Given the description of an element on the screen output the (x, y) to click on. 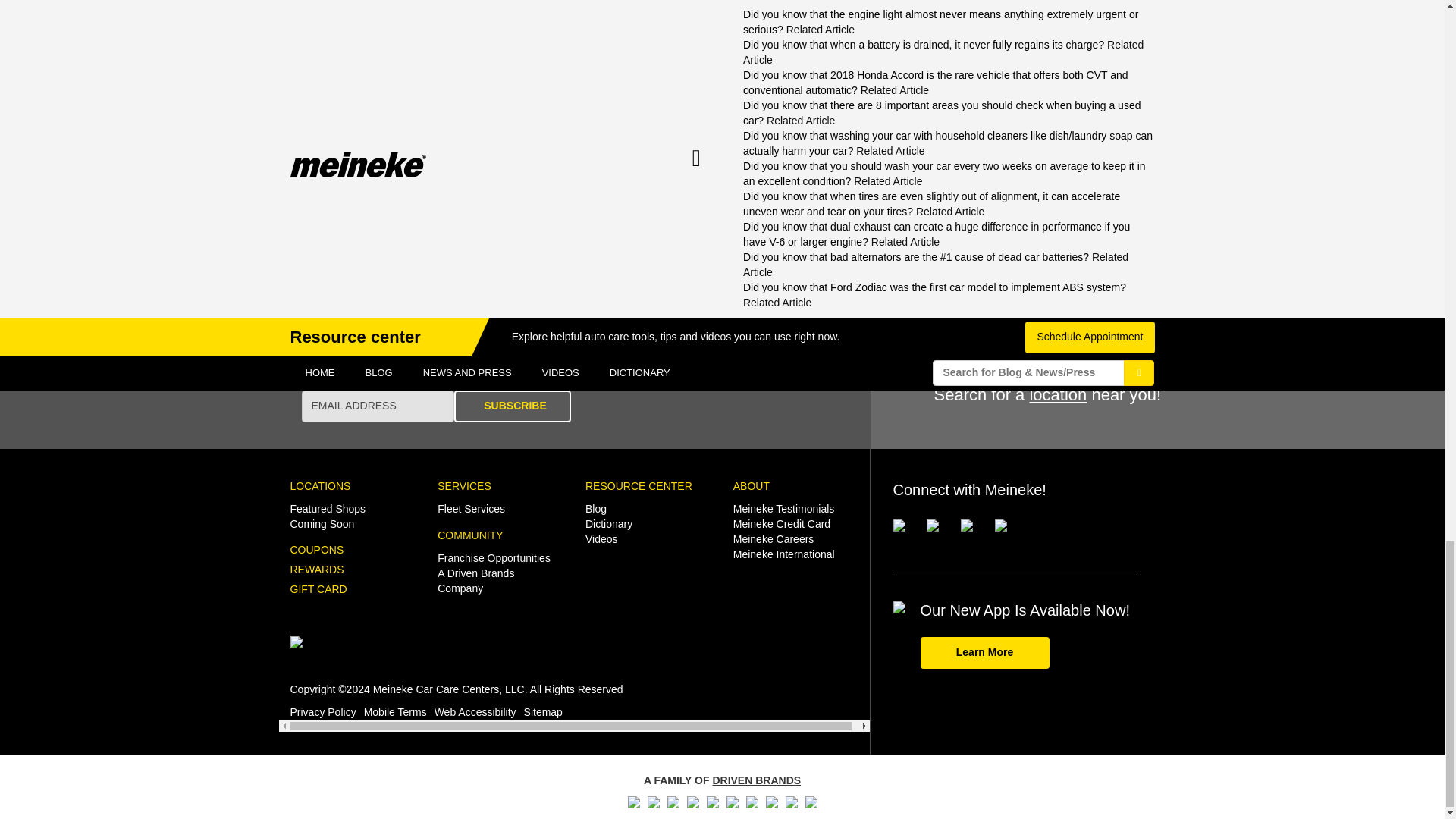
Go to Vehicle Maintenance Tips category (444, 239)
Go to Ask an Expert category (928, 239)
exhaust system (1012, 8)
local Meineke Car Care Center (1014, 23)
Go to Ask an Expert category (338, 239)
Does Premium Gas Last Longer? (406, 170)
Vehicle Maintenance Tips (444, 239)
Go To Featured Shops Page (327, 508)
Go To The Locations Page (319, 485)
Does Premium Gas Last Longer? (406, 170)
